Given the description of an element on the screen output the (x, y) to click on. 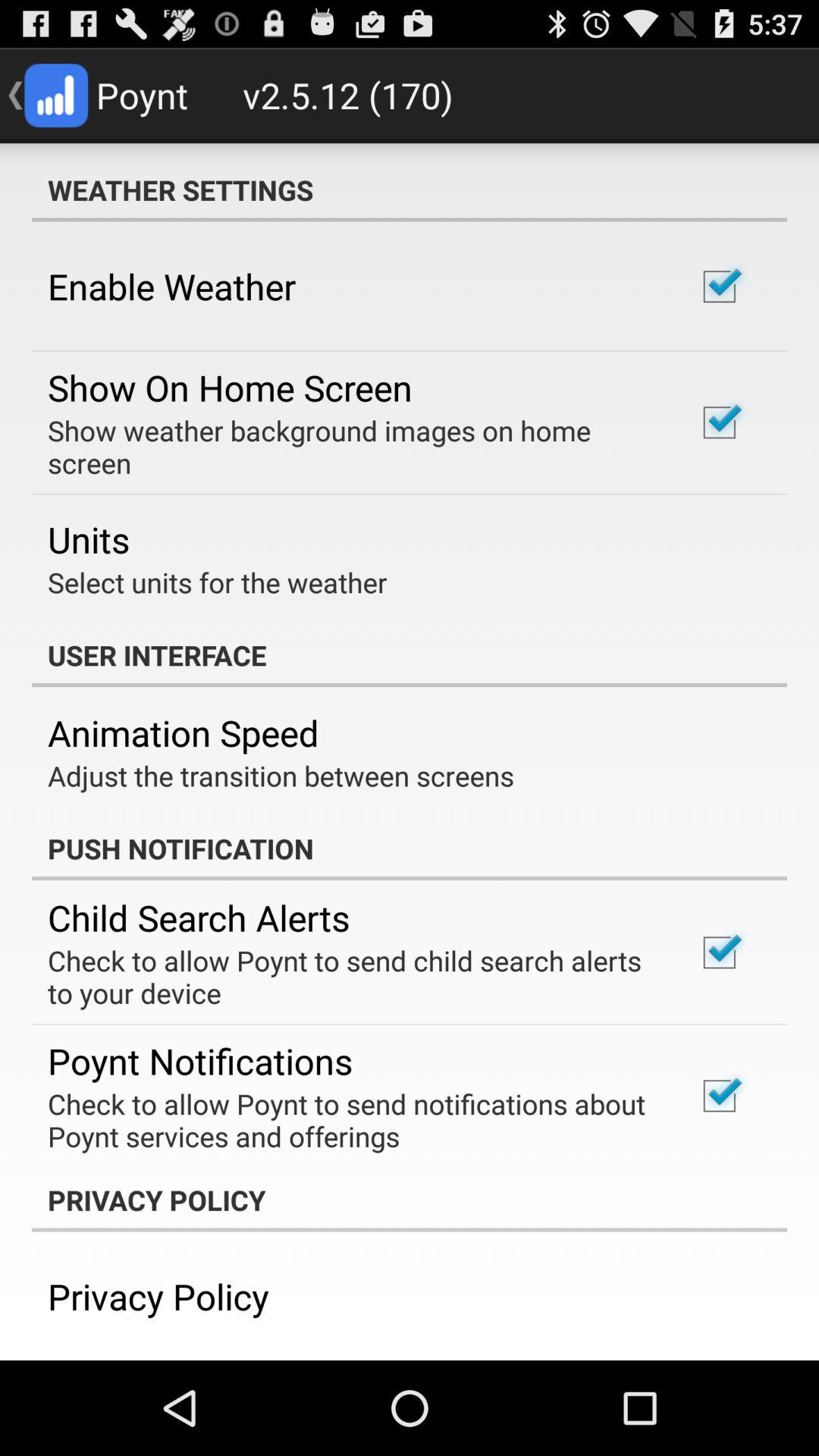
open icon below show on home (351, 446)
